Given the description of an element on the screen output the (x, y) to click on. 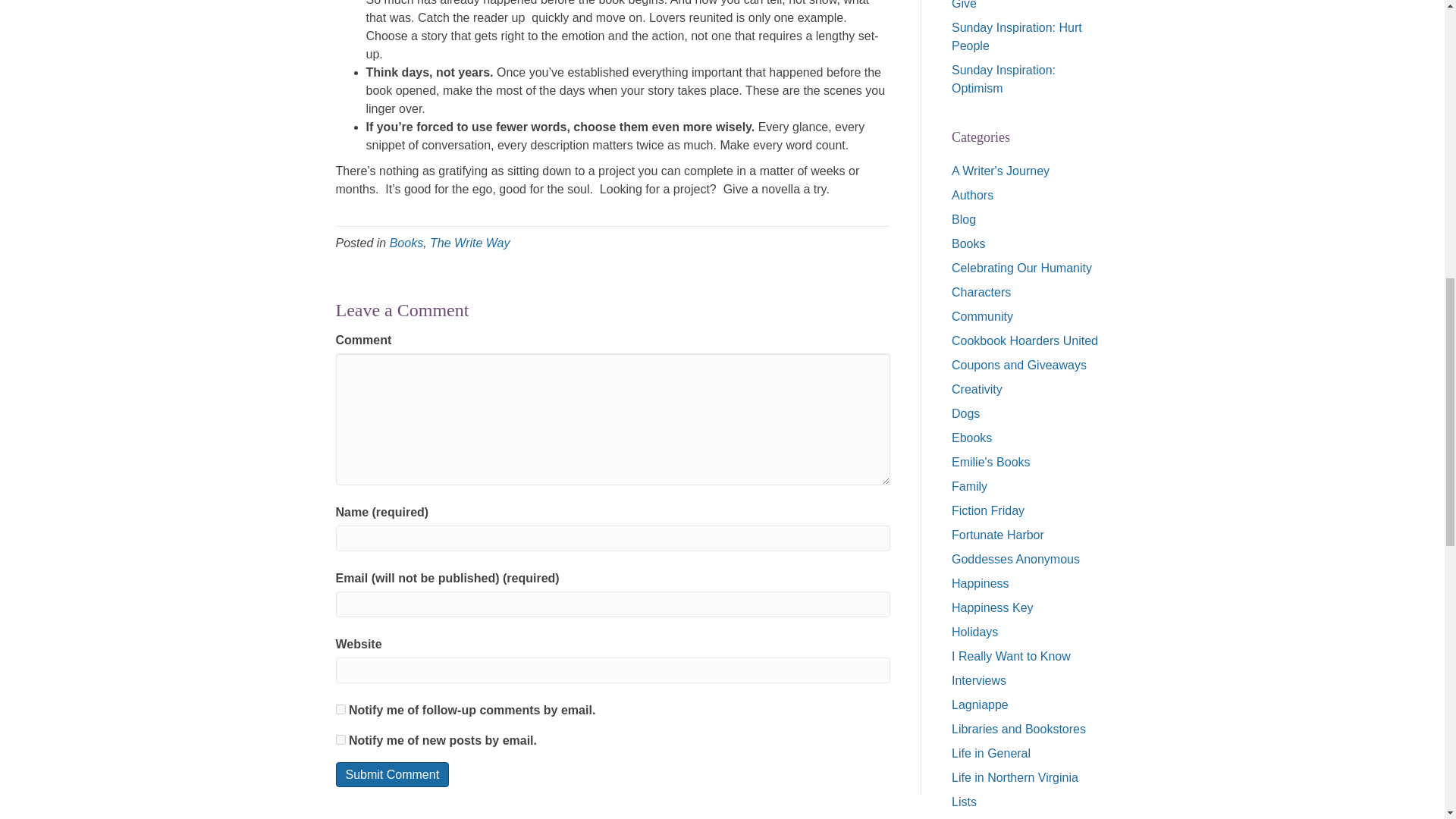
Authors (972, 195)
Books (406, 242)
A Writer's Journey (1000, 170)
Blog (963, 219)
Sunday Inspiration: Hurt People (1016, 36)
Sunday Inspiration: Optimism (1003, 79)
Sunday Inspiration: More to Give (1026, 4)
Books (968, 243)
The Write Way (470, 242)
Submit Comment (391, 774)
